Given the description of an element on the screen output the (x, y) to click on. 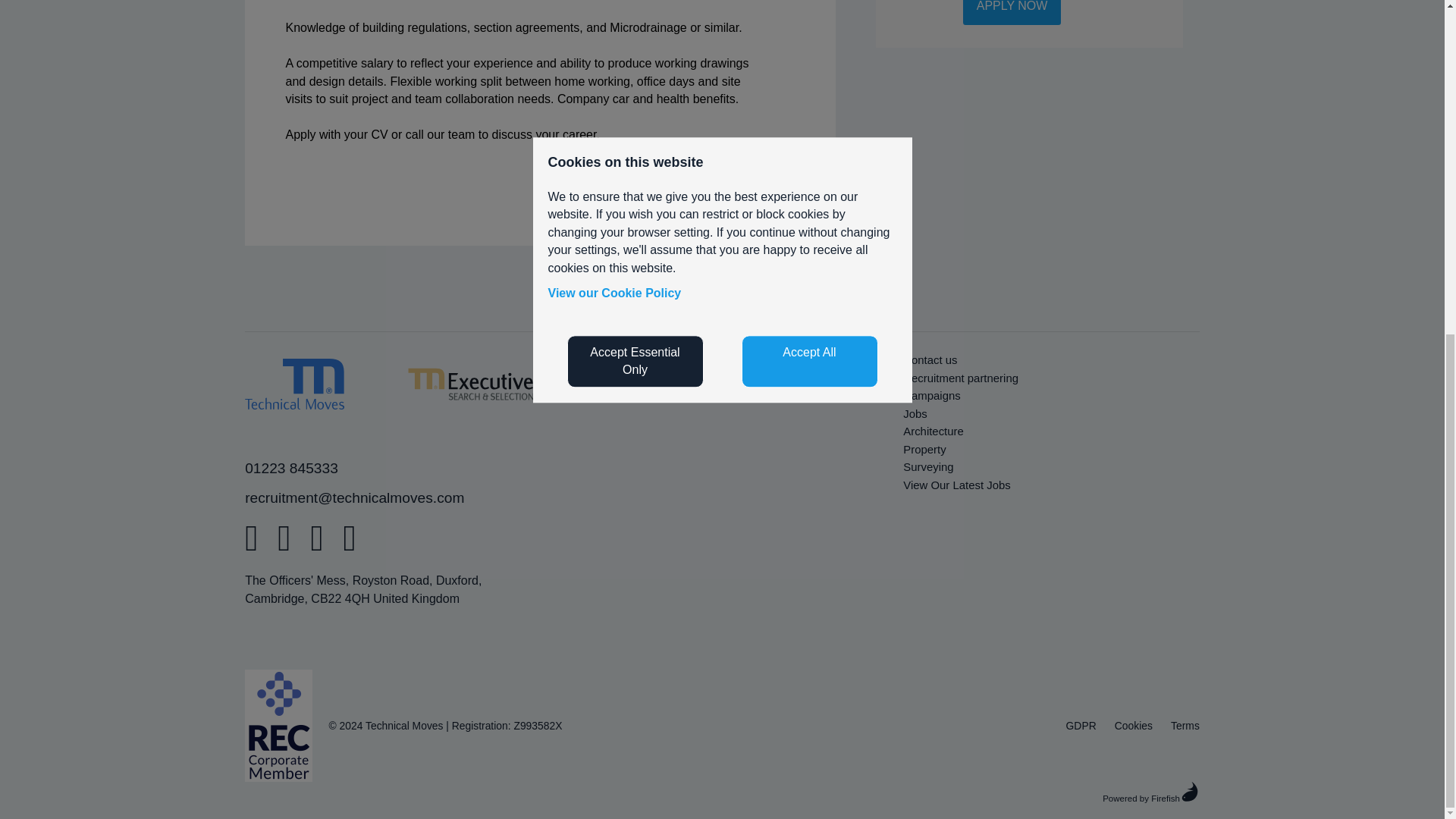
Recruitment Software - Firefish Software (1150, 792)
Technical Moves - Executive jobs (470, 384)
Technical Moves jobs (294, 383)
Recruitment Software - Firefish Software (721, 793)
Back (643, 187)
Apply (710, 187)
Back (643, 187)
